Given the description of an element on the screen output the (x, y) to click on. 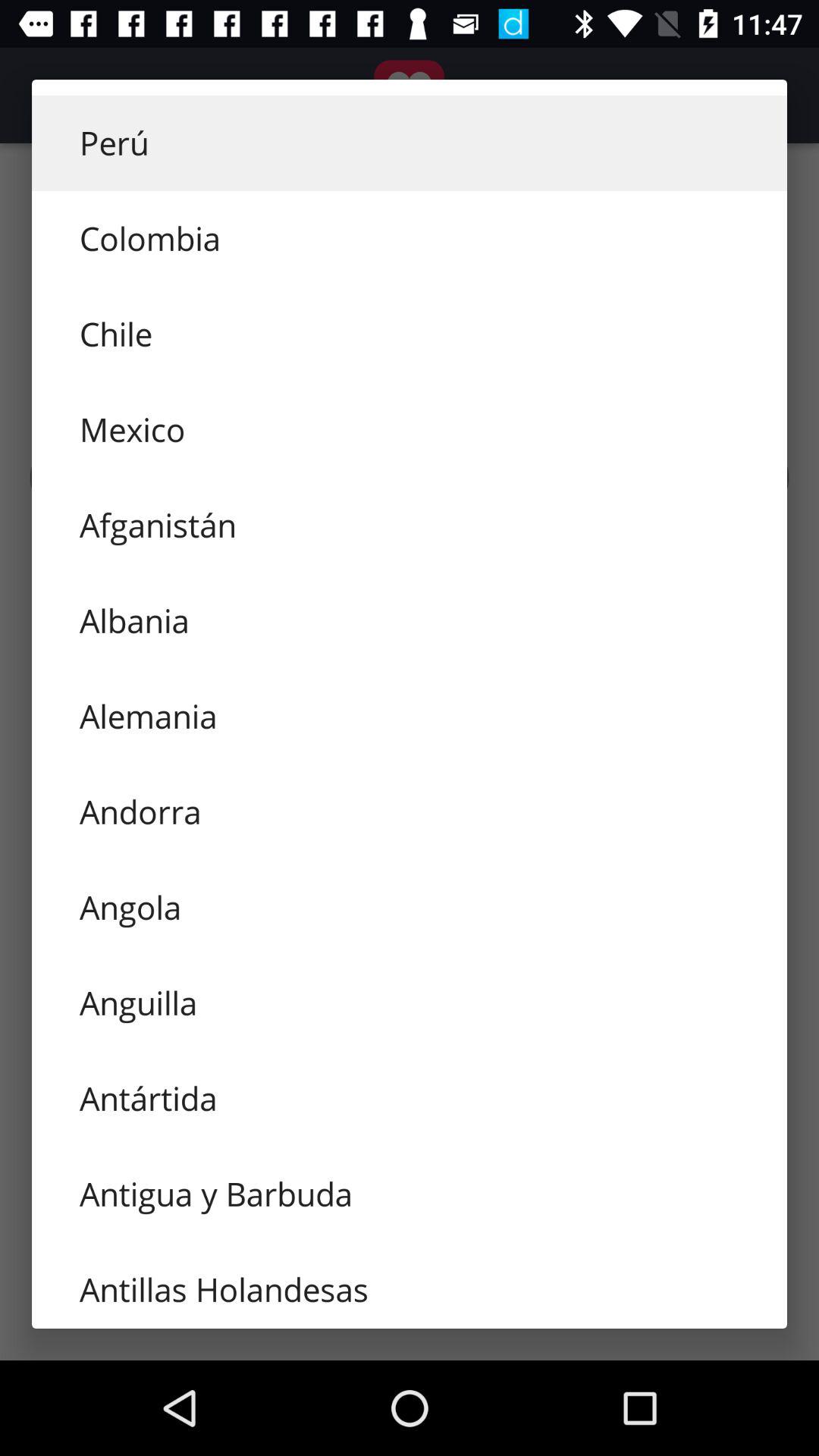
press the antillas holandesas item (409, 1285)
